Given the description of an element on the screen output the (x, y) to click on. 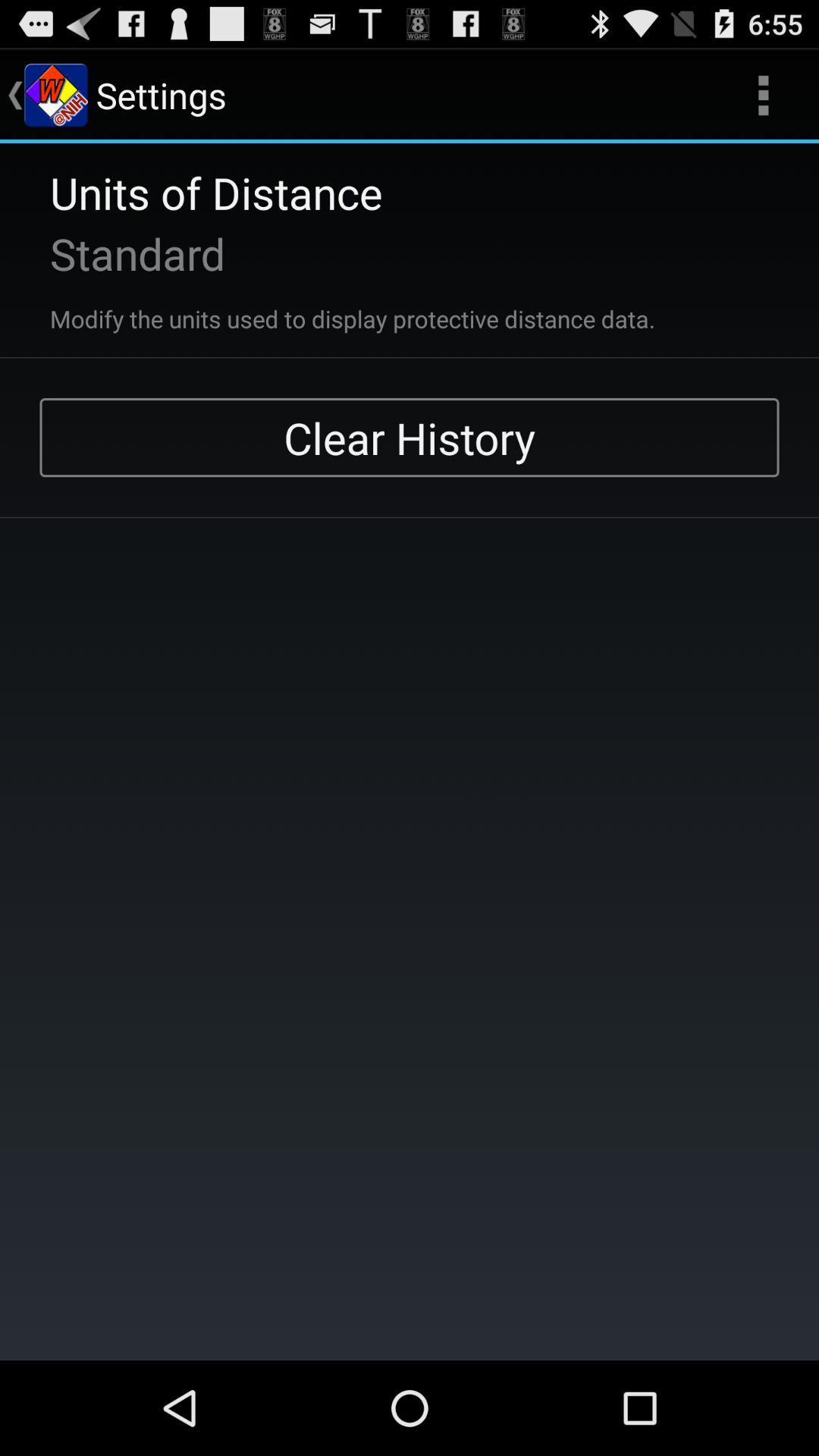
open the item above the clear history (763, 95)
